Given the description of an element on the screen output the (x, y) to click on. 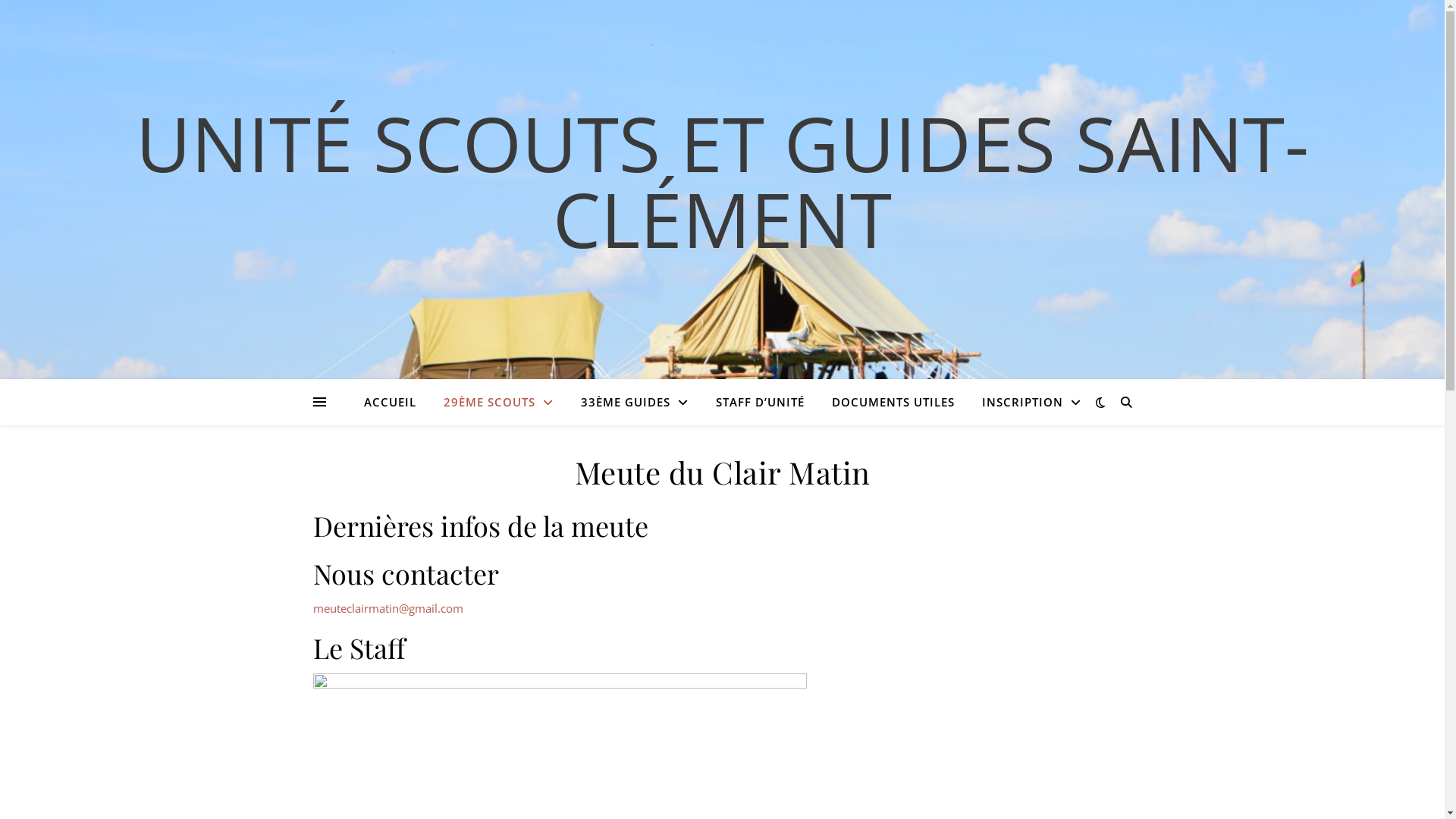
DOCUMENTS UTILES Element type: text (892, 401)
ACCUEIL Element type: text (396, 401)
meuteclairmatin@gmail.com Element type: text (387, 607)
INSCRIPTION Element type: text (1024, 402)
